Given the description of an element on the screen output the (x, y) to click on. 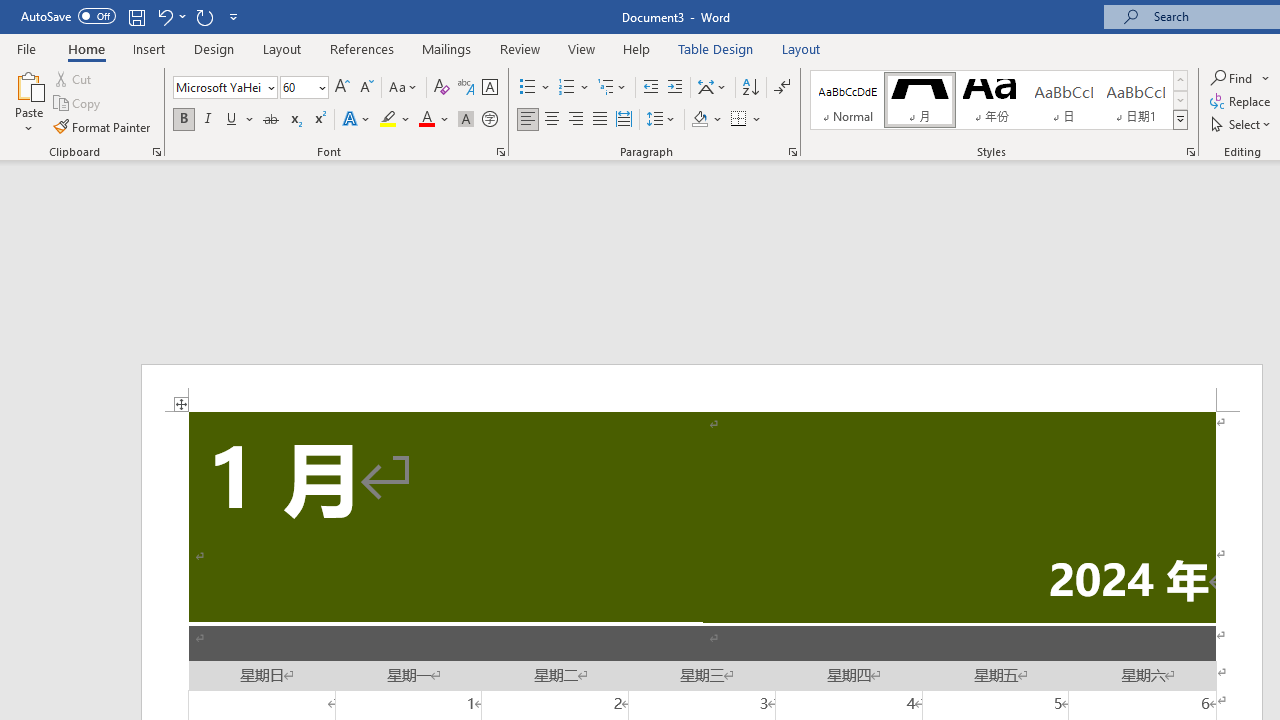
View (582, 48)
Sort... (750, 87)
Clear Formatting (442, 87)
Format Painter (103, 126)
Decrease Indent (650, 87)
Underline (232, 119)
Subscript (294, 119)
Save (136, 15)
Select (1242, 124)
Increase Indent (675, 87)
Font (224, 87)
Align Left (527, 119)
